Given the description of an element on the screen output the (x, y) to click on. 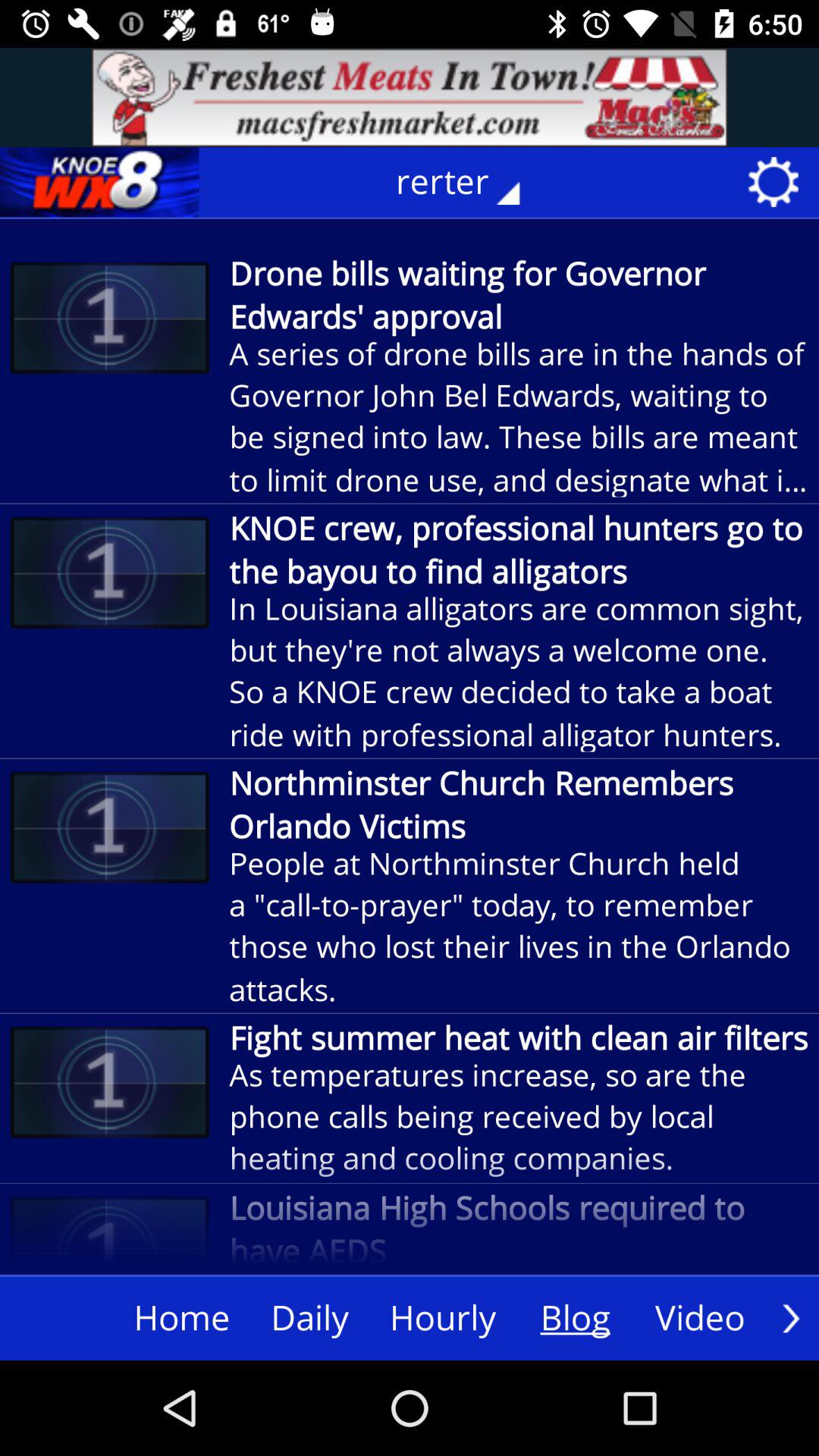
clcik to next video (791, 1318)
